Given the description of an element on the screen output the (x, y) to click on. 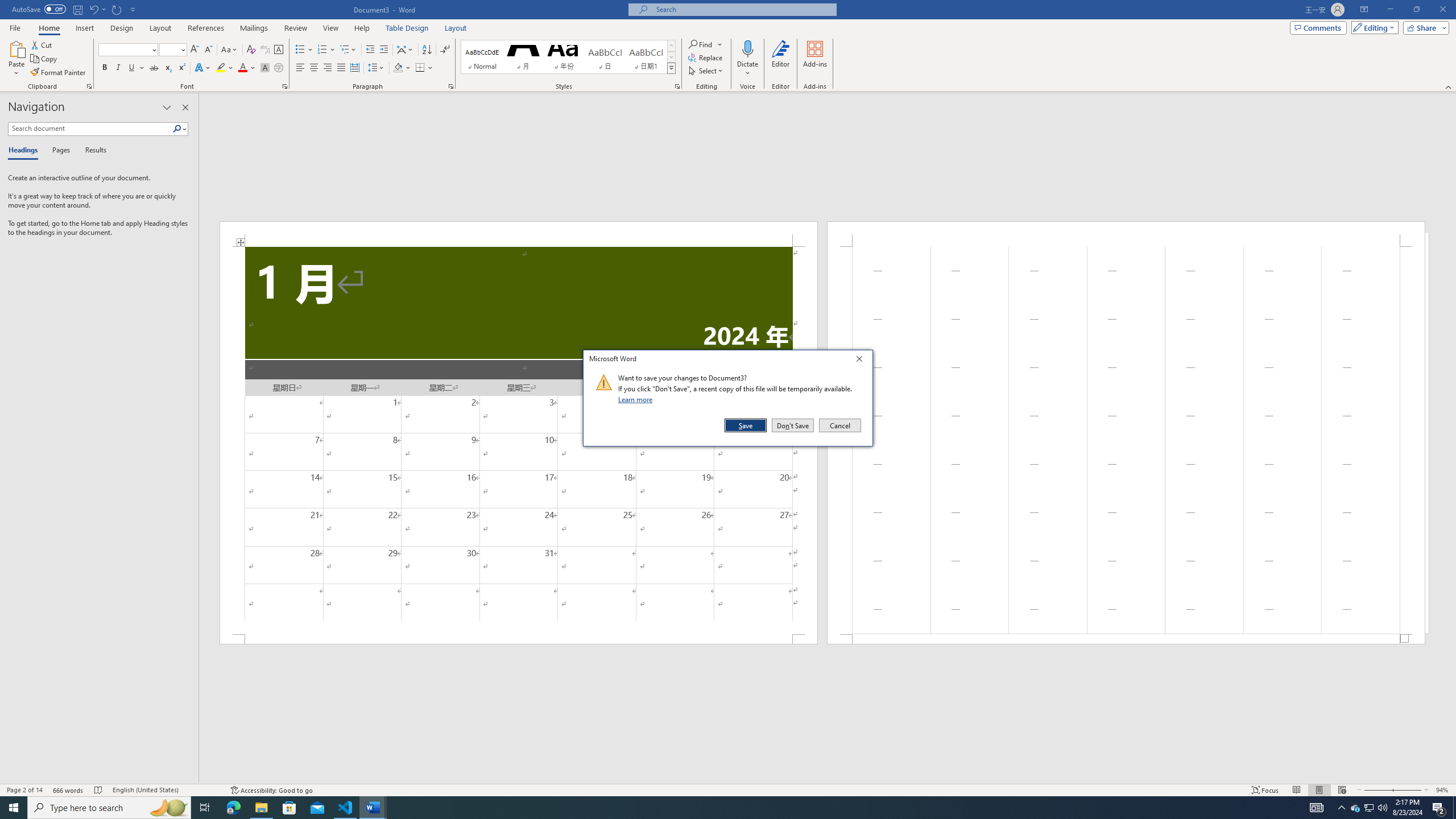
Undo Apply Quick Style (92, 9)
Learn more (636, 399)
